Given the description of an element on the screen output the (x, y) to click on. 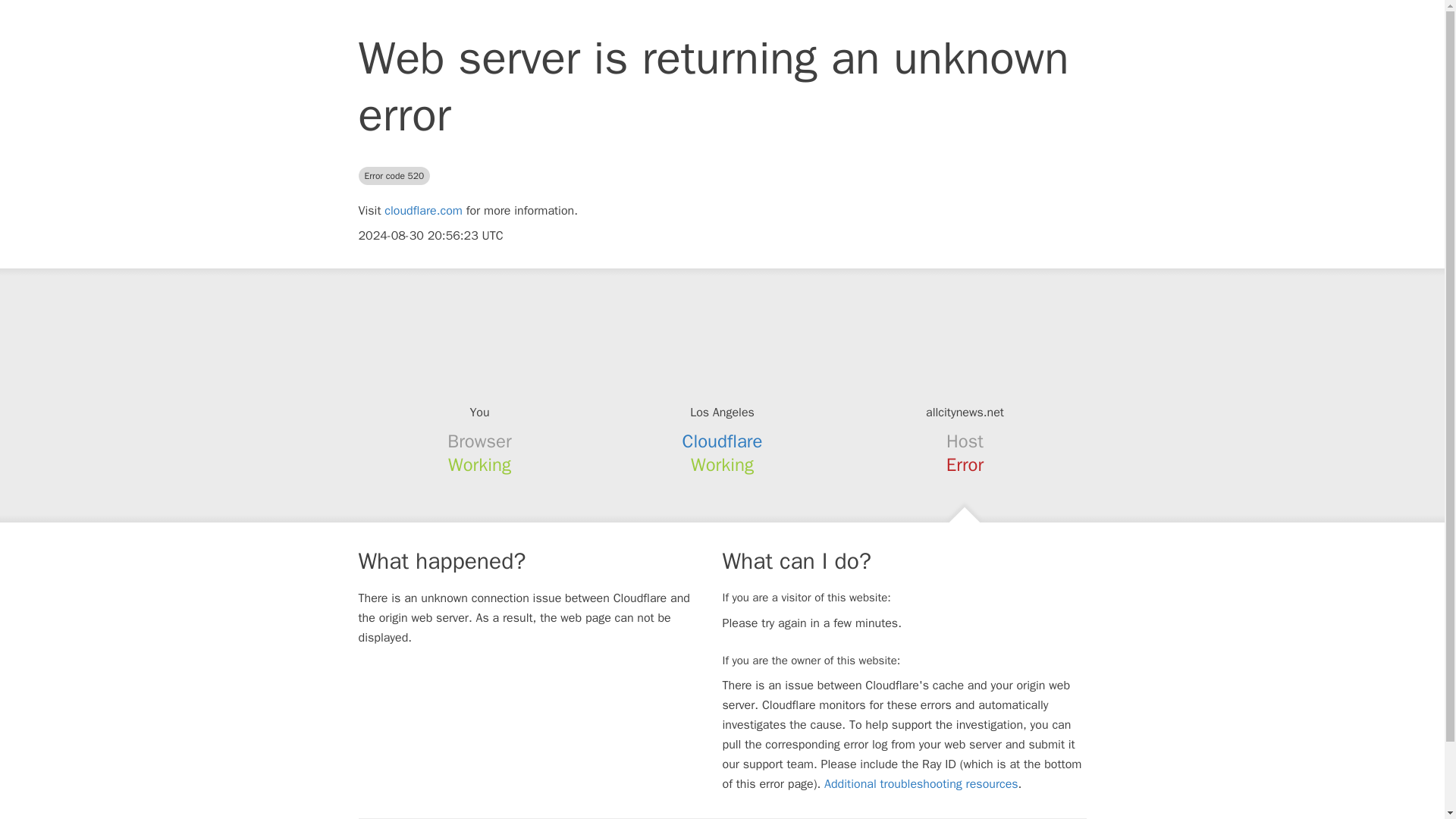
cloudflare.com (423, 210)
Cloudflare (722, 440)
Additional troubleshooting resources (920, 783)
